Given the description of an element on the screen output the (x, y) to click on. 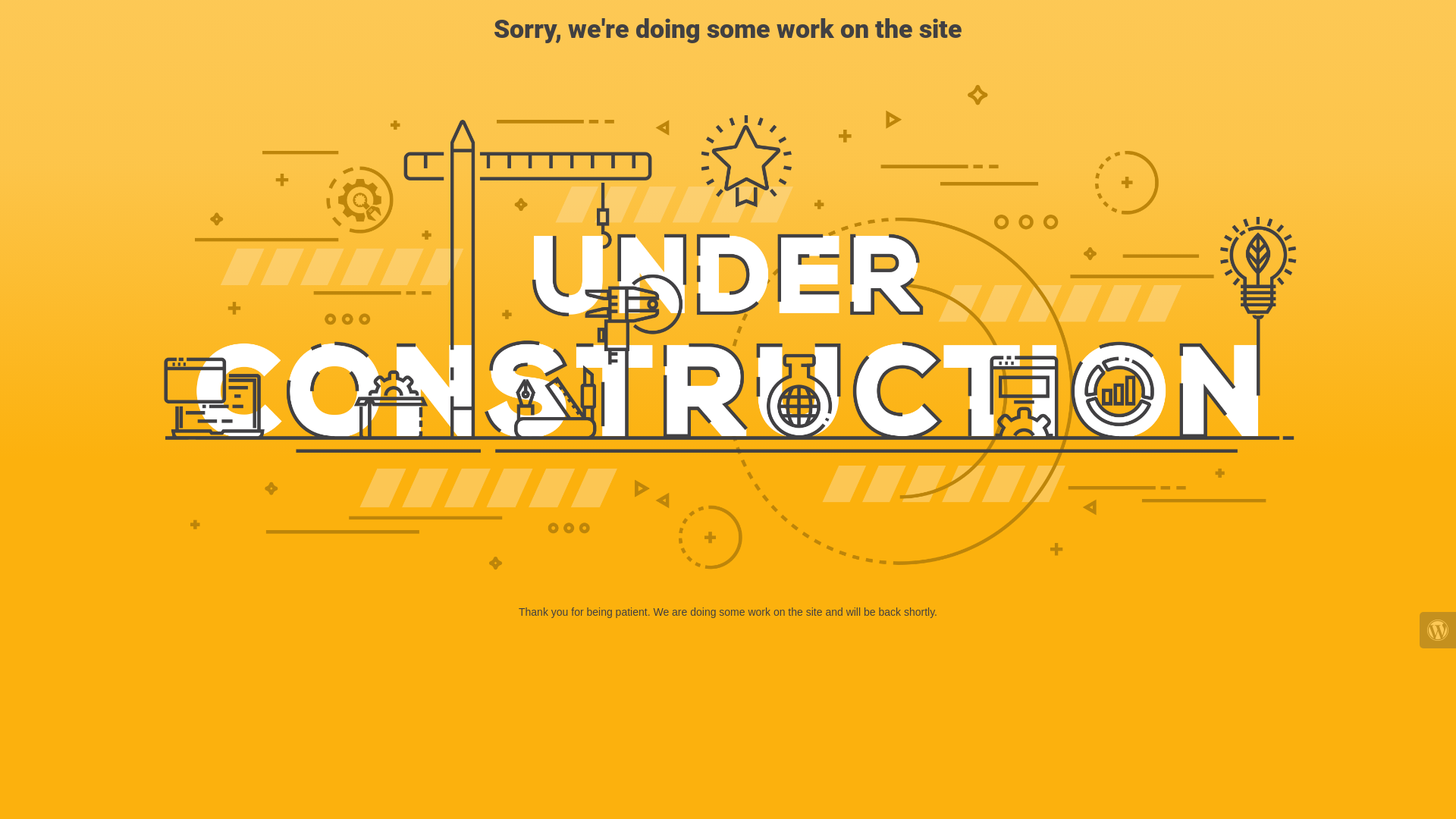
Site is Under Construction Element type: hover (727, 327)
